Given the description of an element on the screen output the (x, y) to click on. 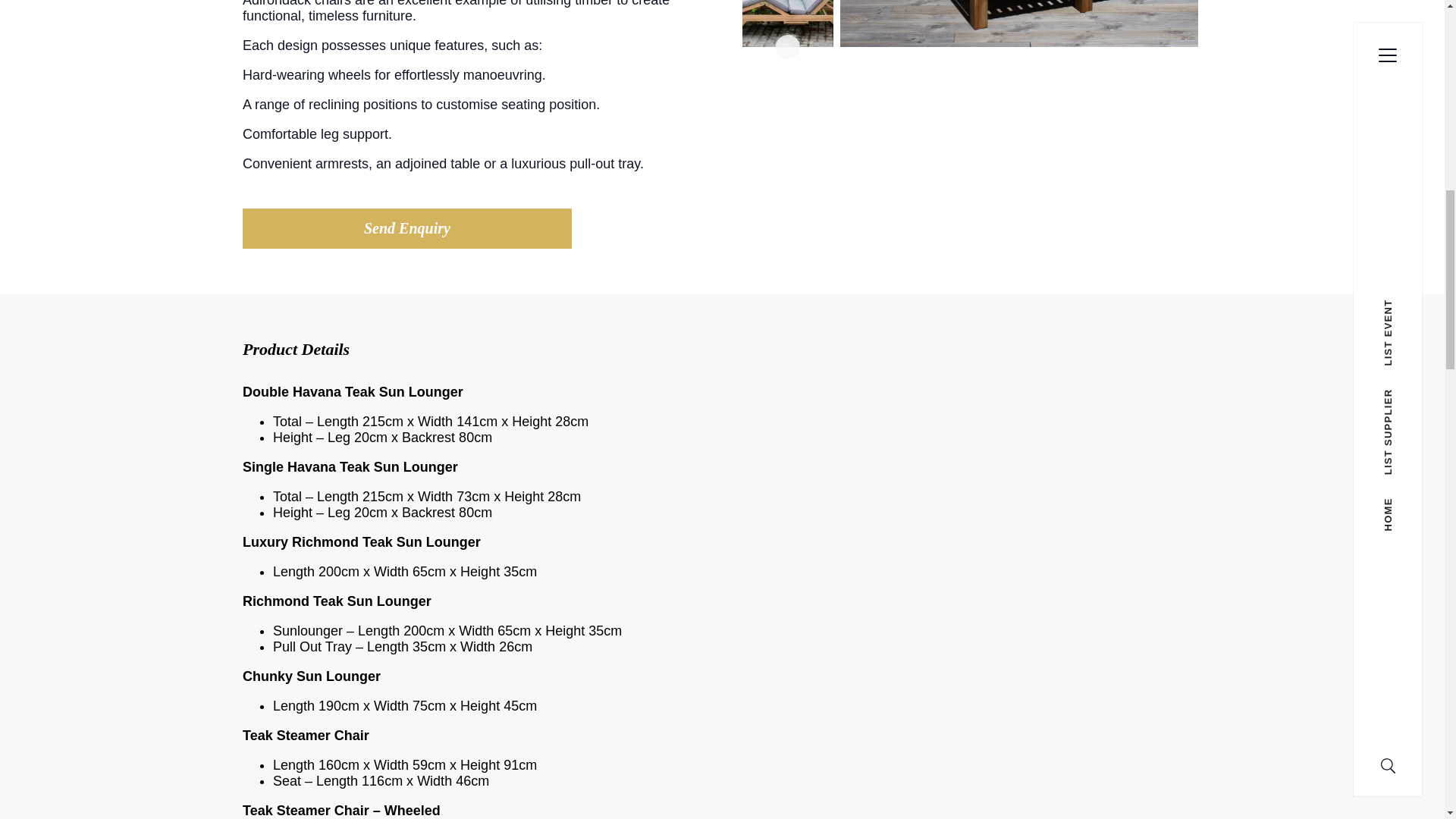
Send Enquiry (407, 228)
